Given the description of an element on the screen output the (x, y) to click on. 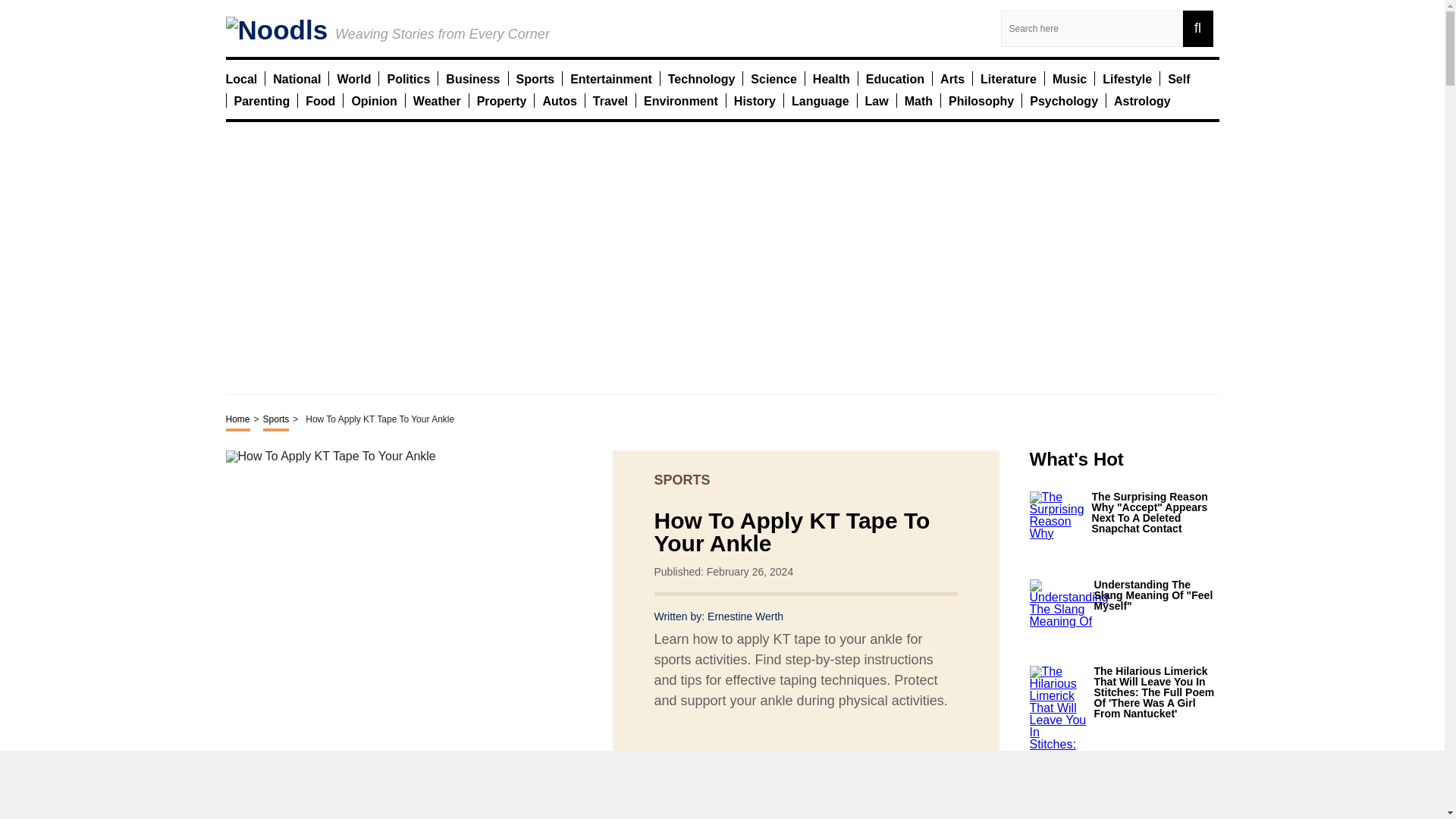
Business (472, 78)
Psychology (1063, 100)
Politics (408, 78)
Food (319, 100)
Local (241, 78)
Parenting (260, 100)
Math (918, 100)
Law (876, 100)
Opinion (373, 100)
Music (1069, 78)
Astrology (1141, 100)
Technology (701, 78)
Autos (558, 100)
Weather (437, 100)
Language (820, 100)
